Given the description of an element on the screen output the (x, y) to click on. 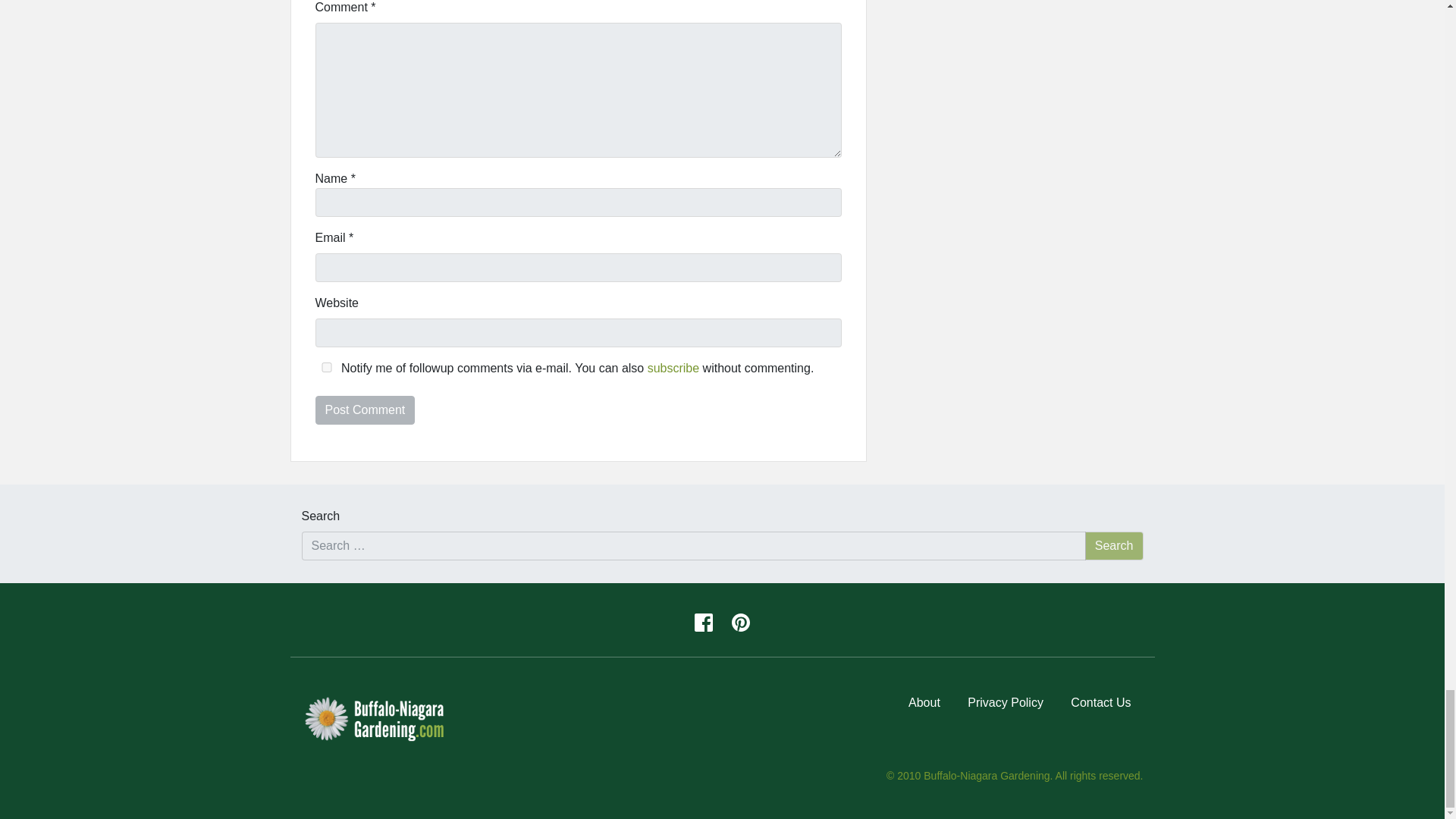
subscribe (672, 367)
yes (326, 367)
Post Comment (364, 410)
Search (1113, 545)
Post Comment (364, 410)
